Given the description of an element on the screen output the (x, y) to click on. 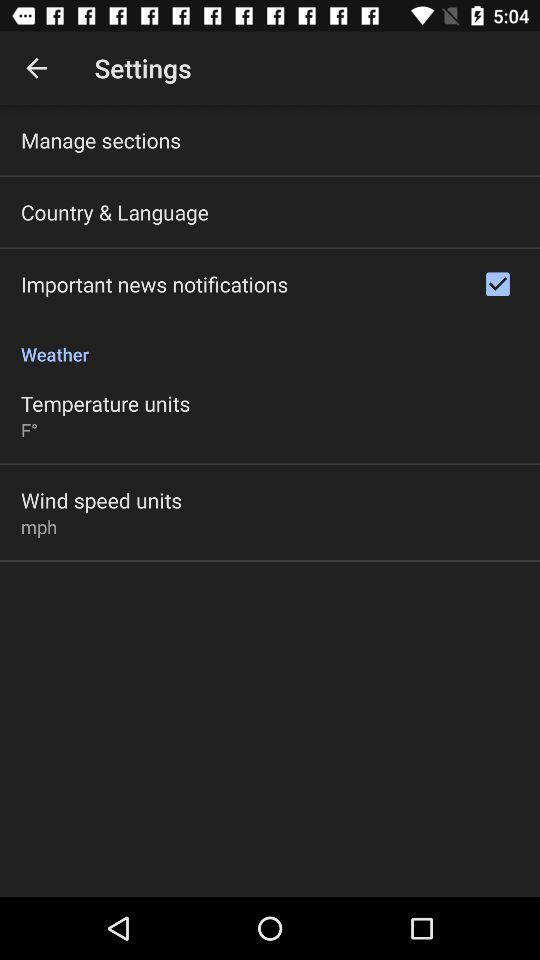
jump until important news notifications (154, 284)
